Given the description of an element on the screen output the (x, y) to click on. 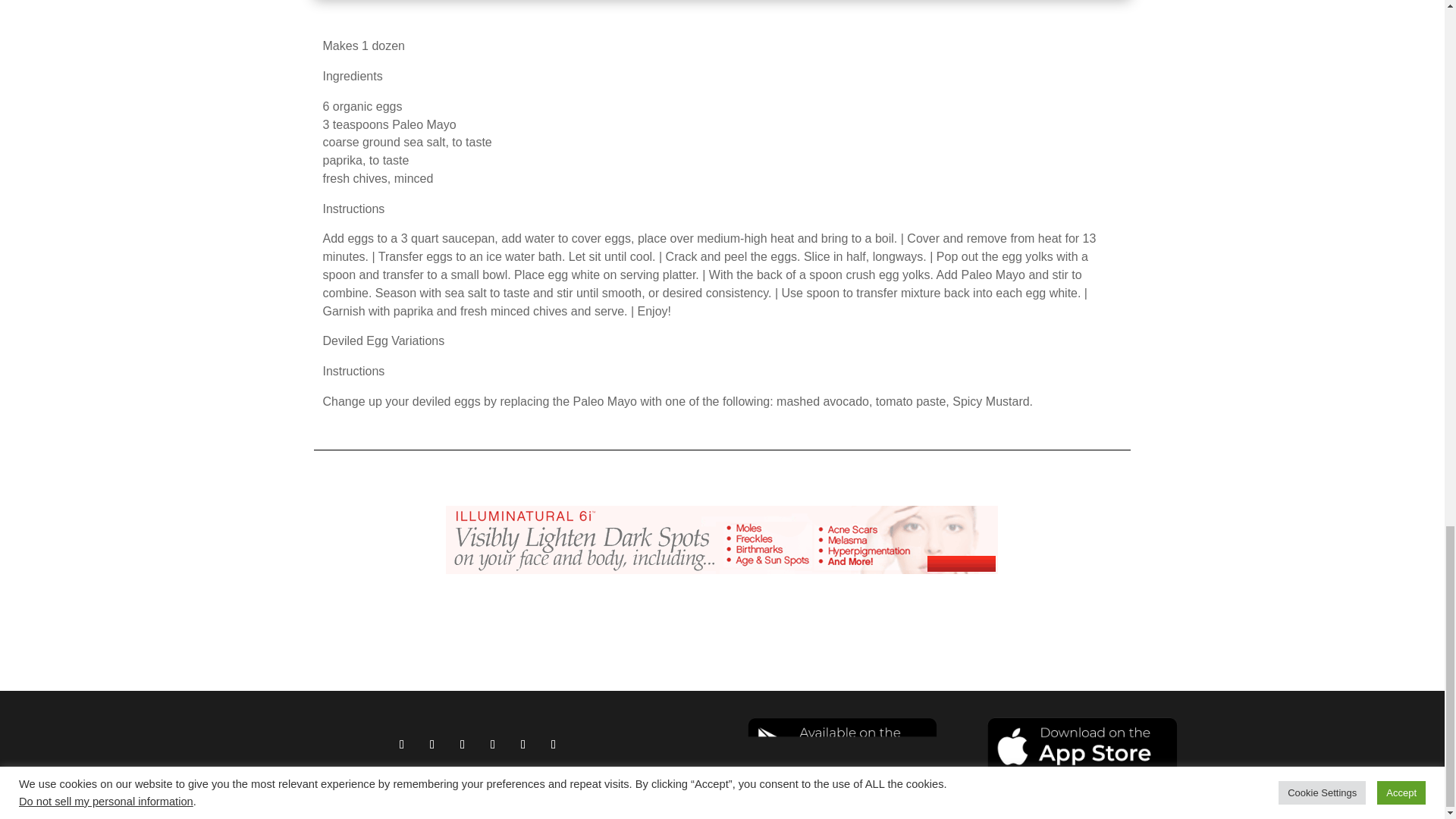
Follow on LinkedIn (553, 744)
Follow on Medium (492, 744)
Follow on X (523, 744)
Follow on Instagram (432, 744)
Follow on Amazon (461, 744)
Follow on Facebook (401, 744)
